Given the description of an element on the screen output the (x, y) to click on. 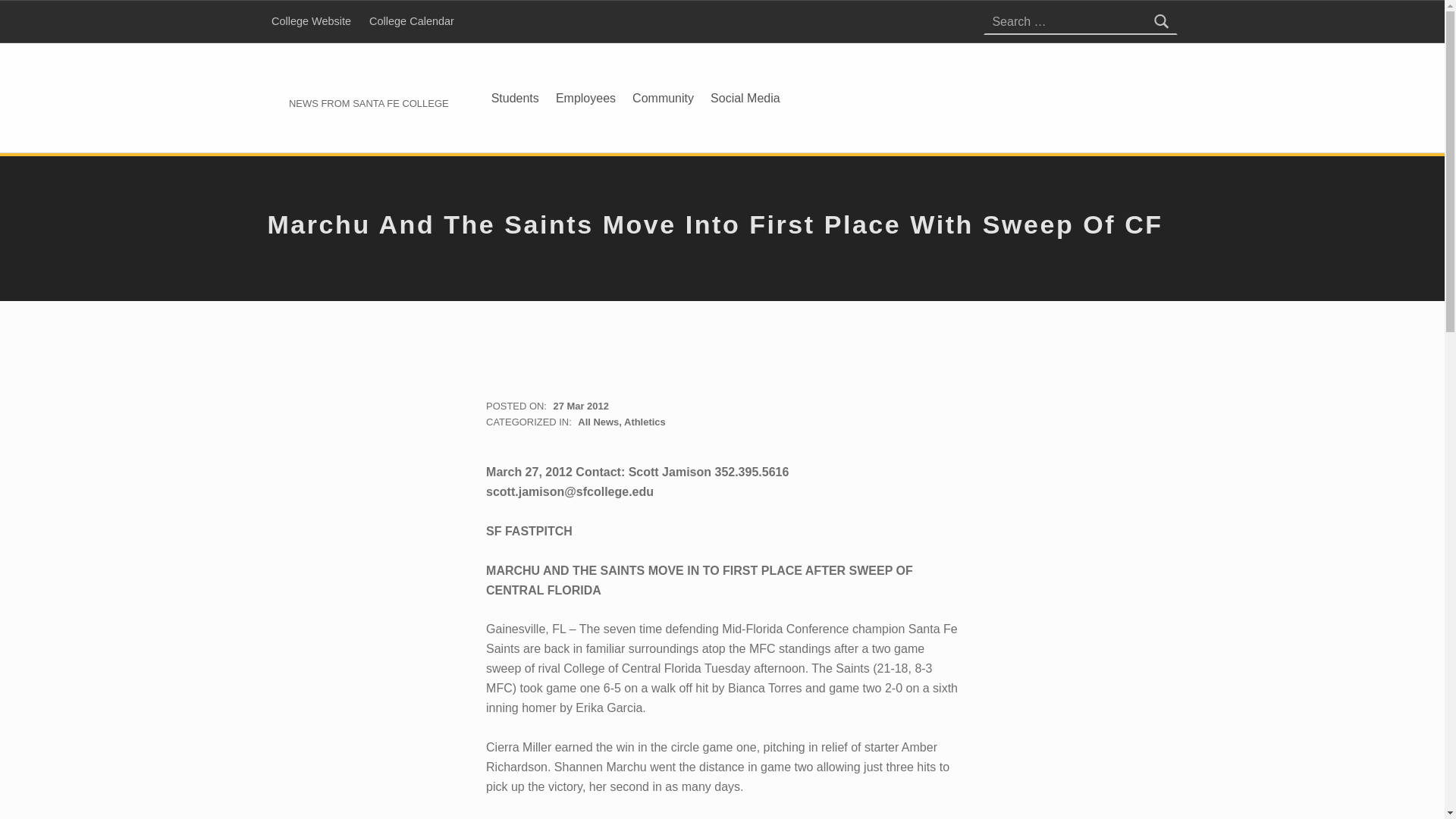
27 Mar 2012 (580, 405)
Social Media (745, 97)
Employees (585, 97)
Athletics (644, 421)
Students (514, 97)
Posted on: 27 Mar 2012 (580, 405)
All News (598, 421)
Community (662, 97)
College Calendar (411, 21)
College Website (310, 21)
